Given the description of an element on the screen output the (x, y) to click on. 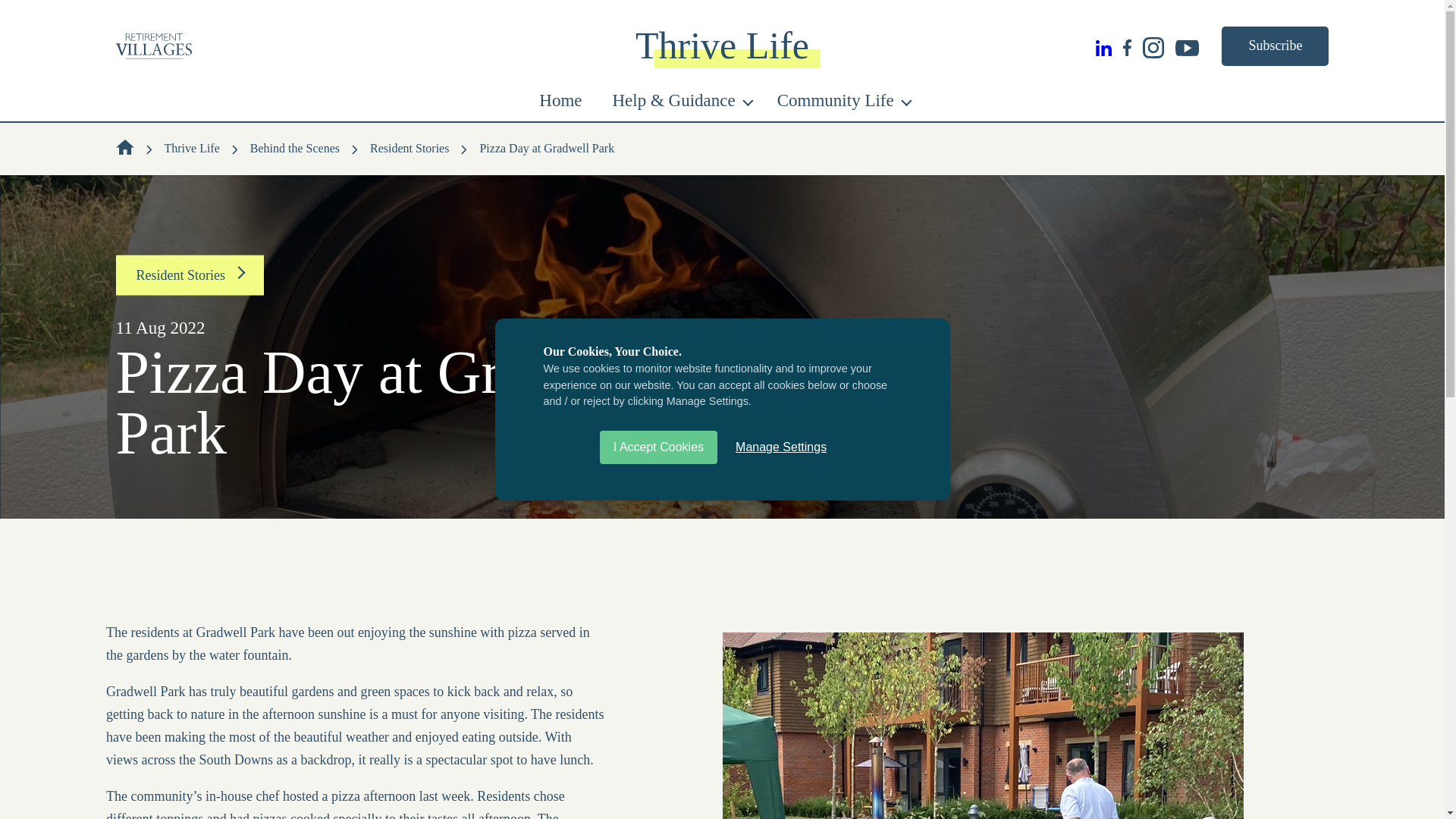
LinkedIn (1109, 46)
LinkedIn (1109, 46)
Thrive Life (721, 45)
Youtube (1191, 46)
Instagram (1158, 46)
Home (559, 104)
Instagram (1158, 46)
Facebook (1132, 46)
Community Life (841, 104)
Facebook (1132, 46)
Thrive Life (721, 45)
Home (559, 104)
Manage Settings (780, 447)
Return to Retirement Villages (317, 46)
Thrive Life (1274, 46)
